Given the description of an element on the screen output the (x, y) to click on. 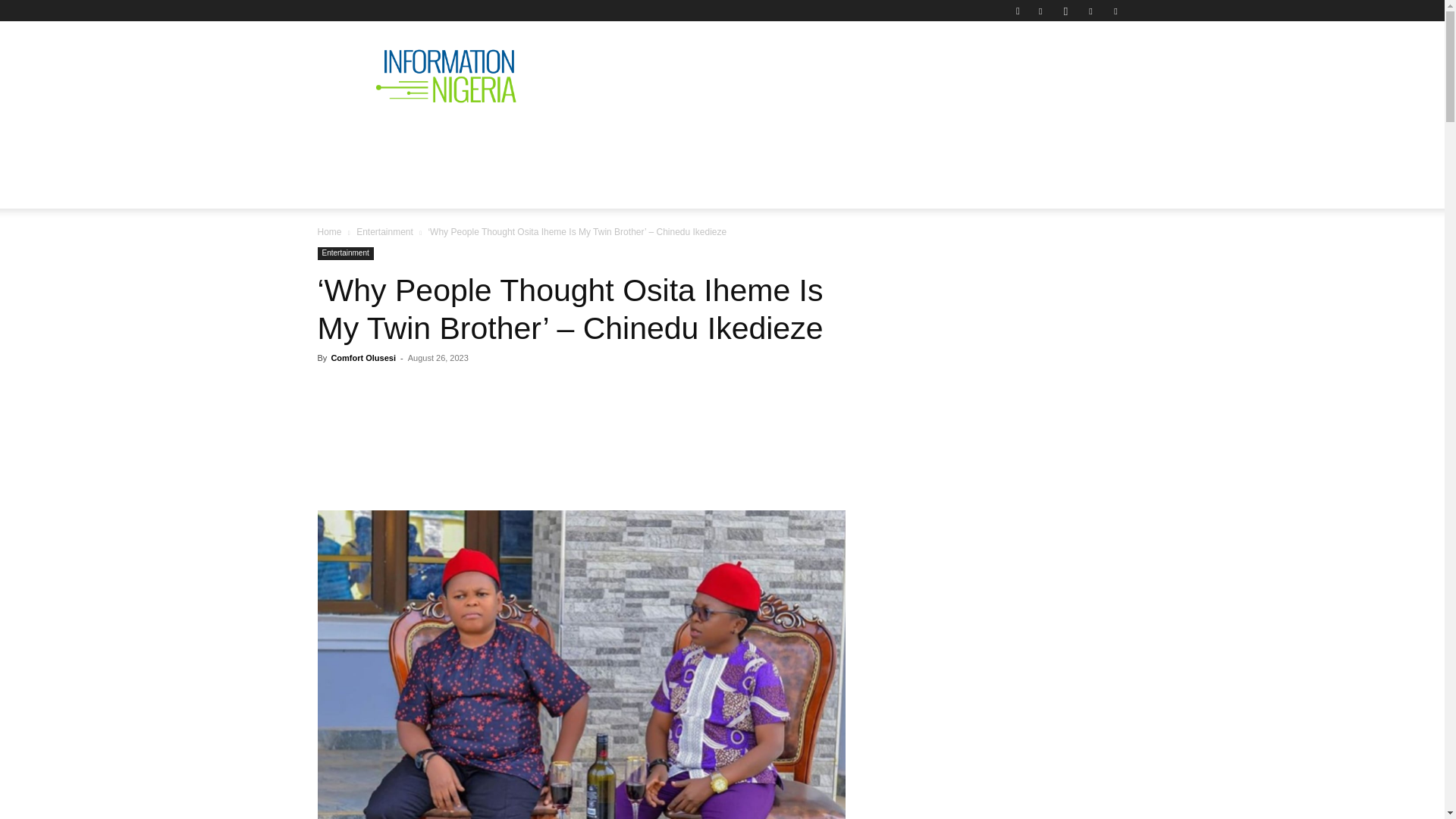
Search (1085, 64)
POLITICS (551, 139)
BBC PIDGIN (779, 139)
METRO NEWS (884, 139)
SPECIAL REPORTS (660, 139)
Nigeria News, Nigerian Newspaper (446, 76)
HOME (347, 139)
SPORTS (974, 139)
Facebook (1040, 10)
Instagram (1065, 10)
